Given the description of an element on the screen output the (x, y) to click on. 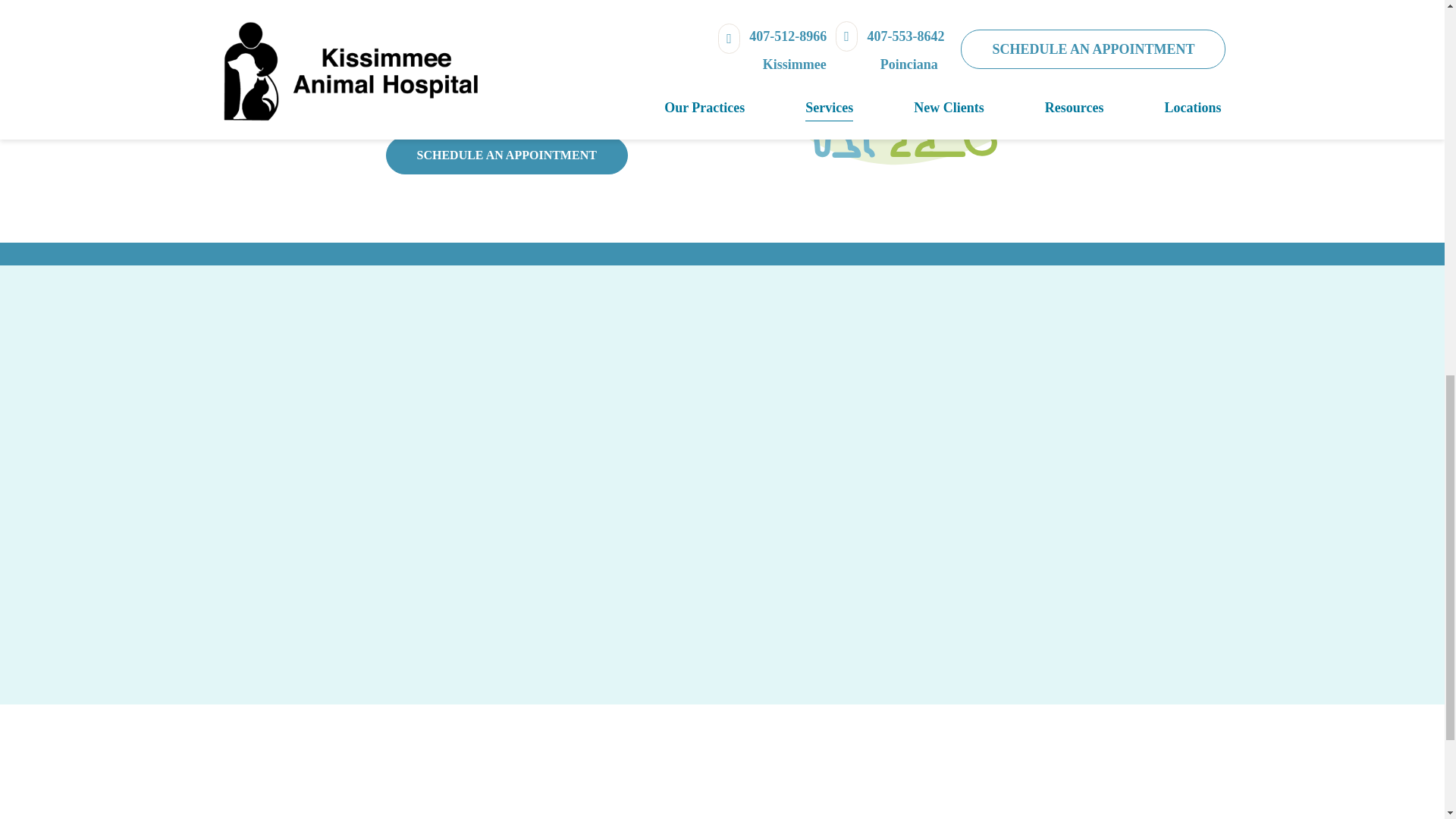
407-512-8966 (520, 104)
SCHEDULE AN APPOINTMENT (506, 155)
veterinarian with animals in little rock (929, 79)
